Given the description of an element on the screen output the (x, y) to click on. 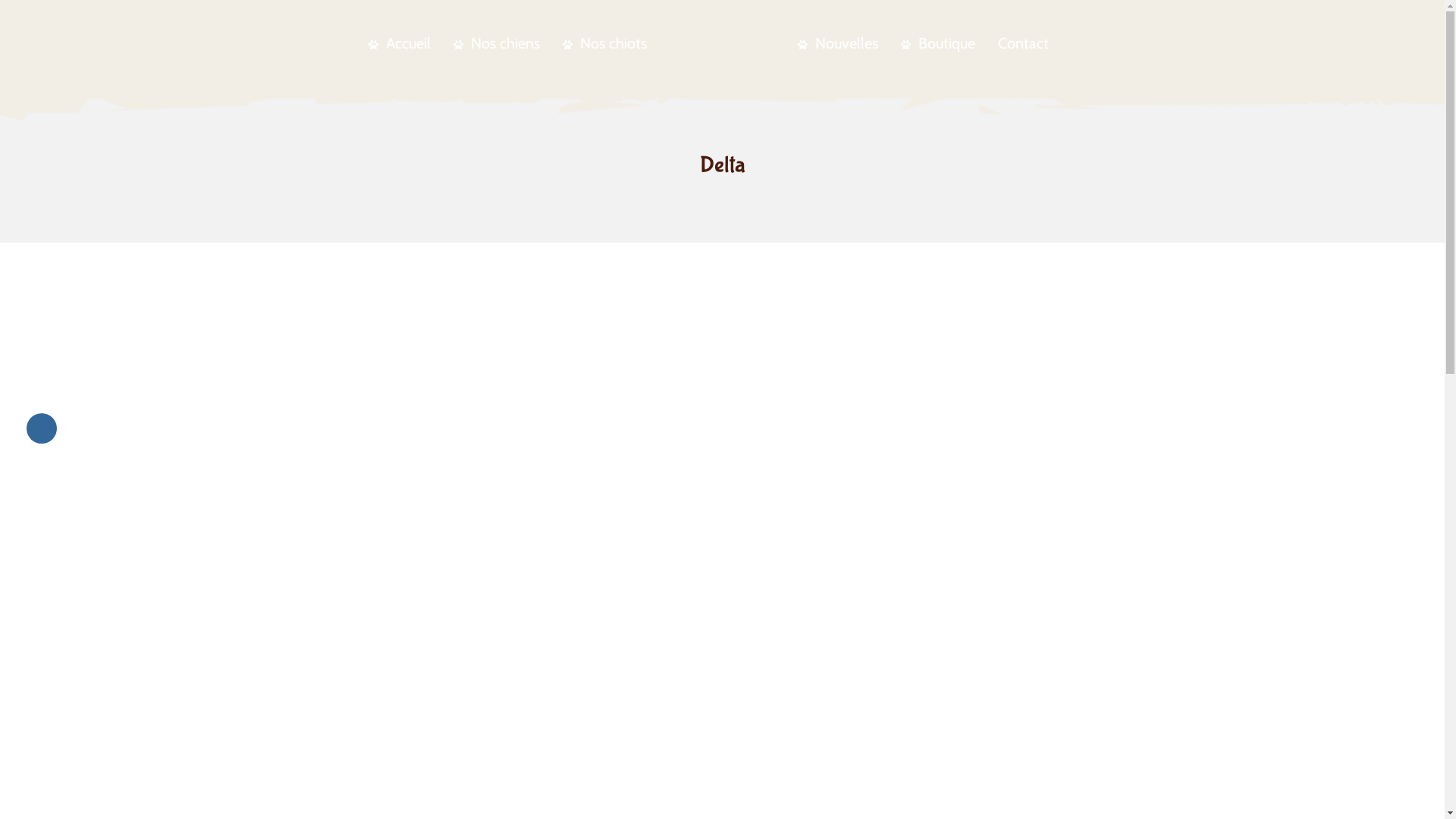
Boutique Element type: text (938, 43)
Contact Element type: text (1023, 43)
Facebook Element type: hover (41, 428)
Nos chiots Element type: text (604, 43)
Accueil Element type: text (399, 43)
Berger Australien Element type: hover (721, 41)
Nouvelles Element type: text (837, 43)
Berger Australien Element type: hover (721, 41)
Nos chiens Element type: text (496, 43)
